Given the description of an element on the screen output the (x, y) to click on. 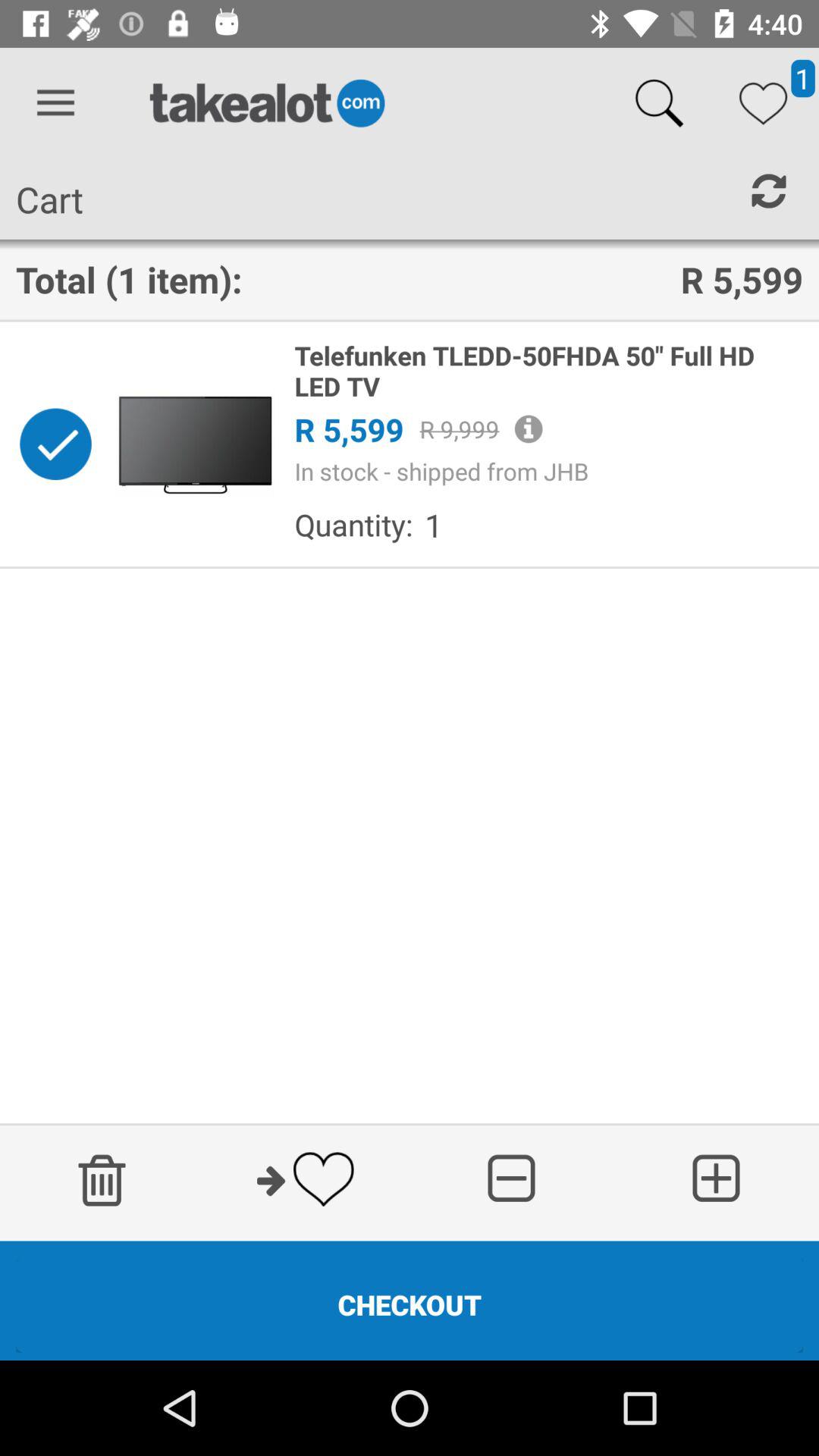
open in stock shipped icon (548, 471)
